Given the description of an element on the screen output the (x, y) to click on. 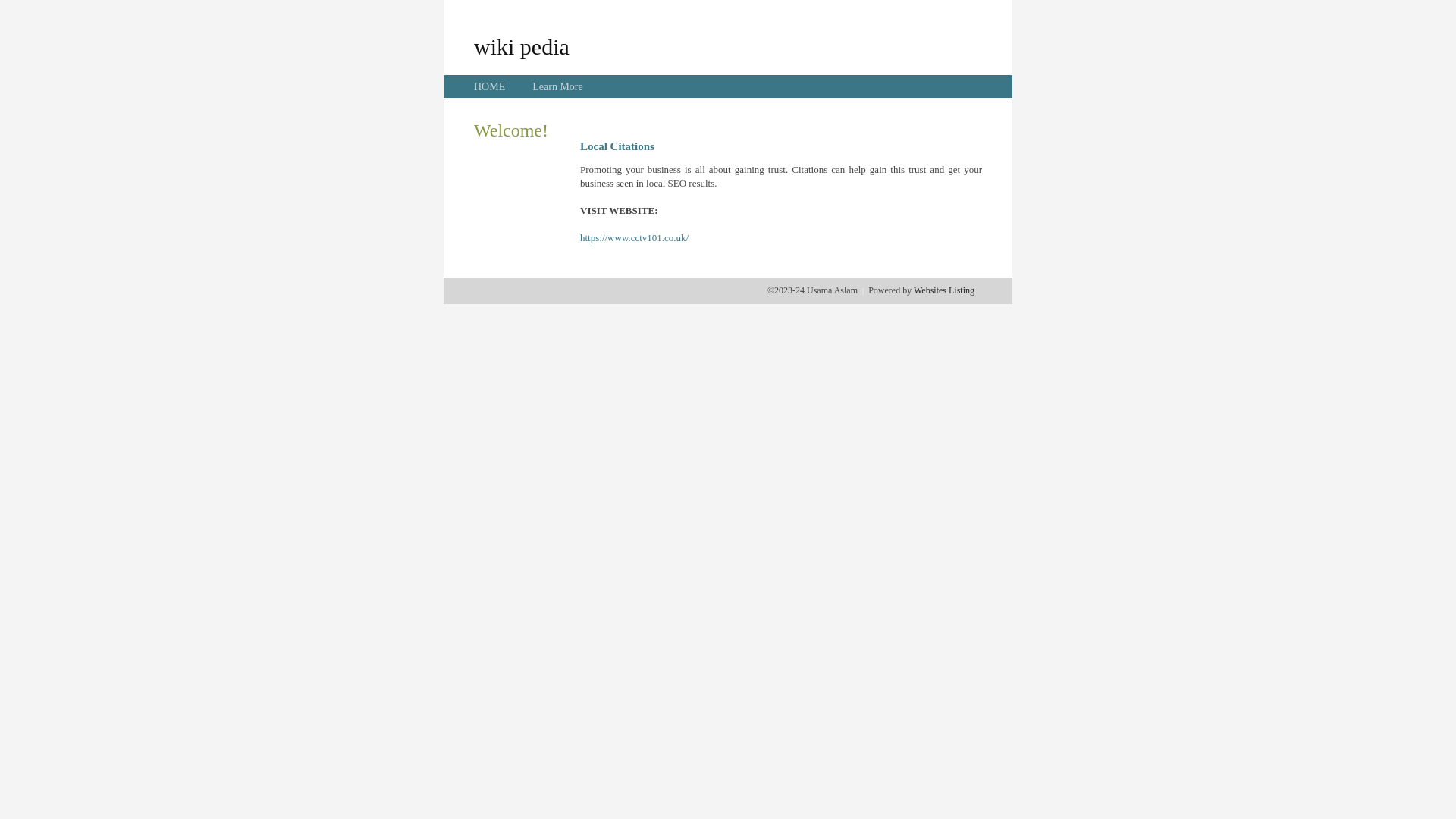
Websites Listing Element type: text (943, 290)
https://www.cctv101.co.uk/ Element type: text (634, 237)
HOME Element type: text (489, 86)
wiki pedia Element type: text (521, 46)
Learn More Element type: text (557, 86)
